Given the description of an element on the screen output the (x, y) to click on. 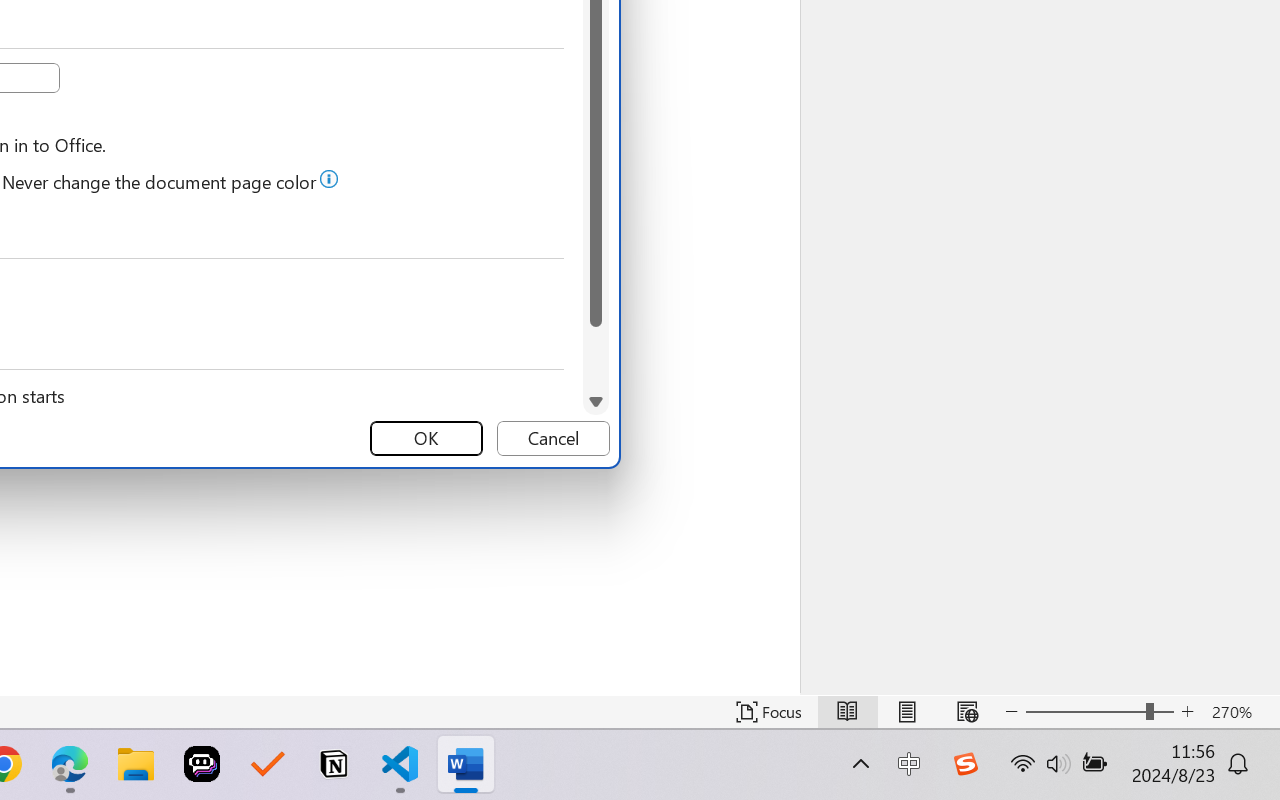
Text Size (1100, 712)
Cancel (553, 437)
